Given the description of an element on the screen output the (x, y) to click on. 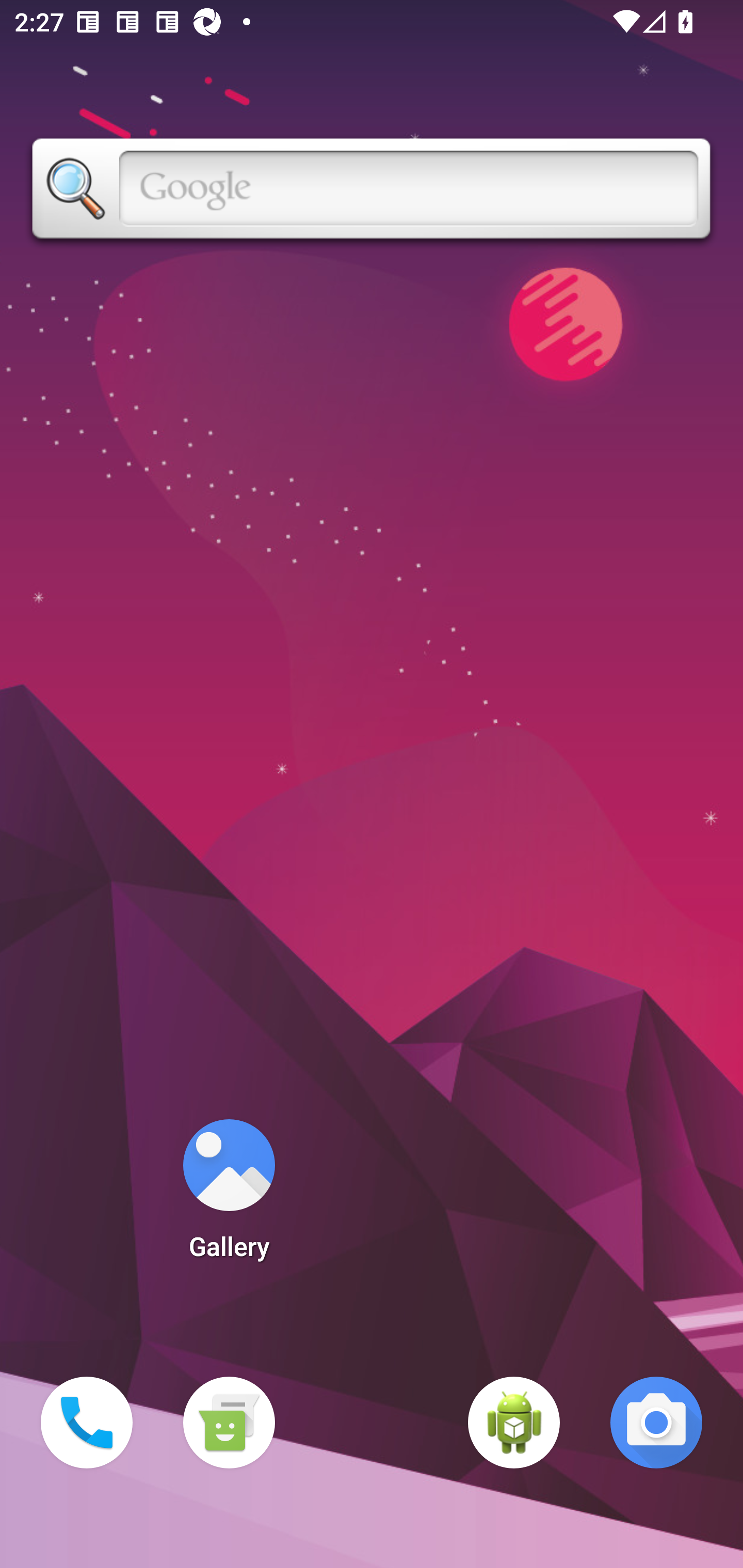
Gallery (228, 1195)
Phone (86, 1422)
Messaging (228, 1422)
WebView Browser Tester (513, 1422)
Camera (656, 1422)
